Given the description of an element on the screen output the (x, y) to click on. 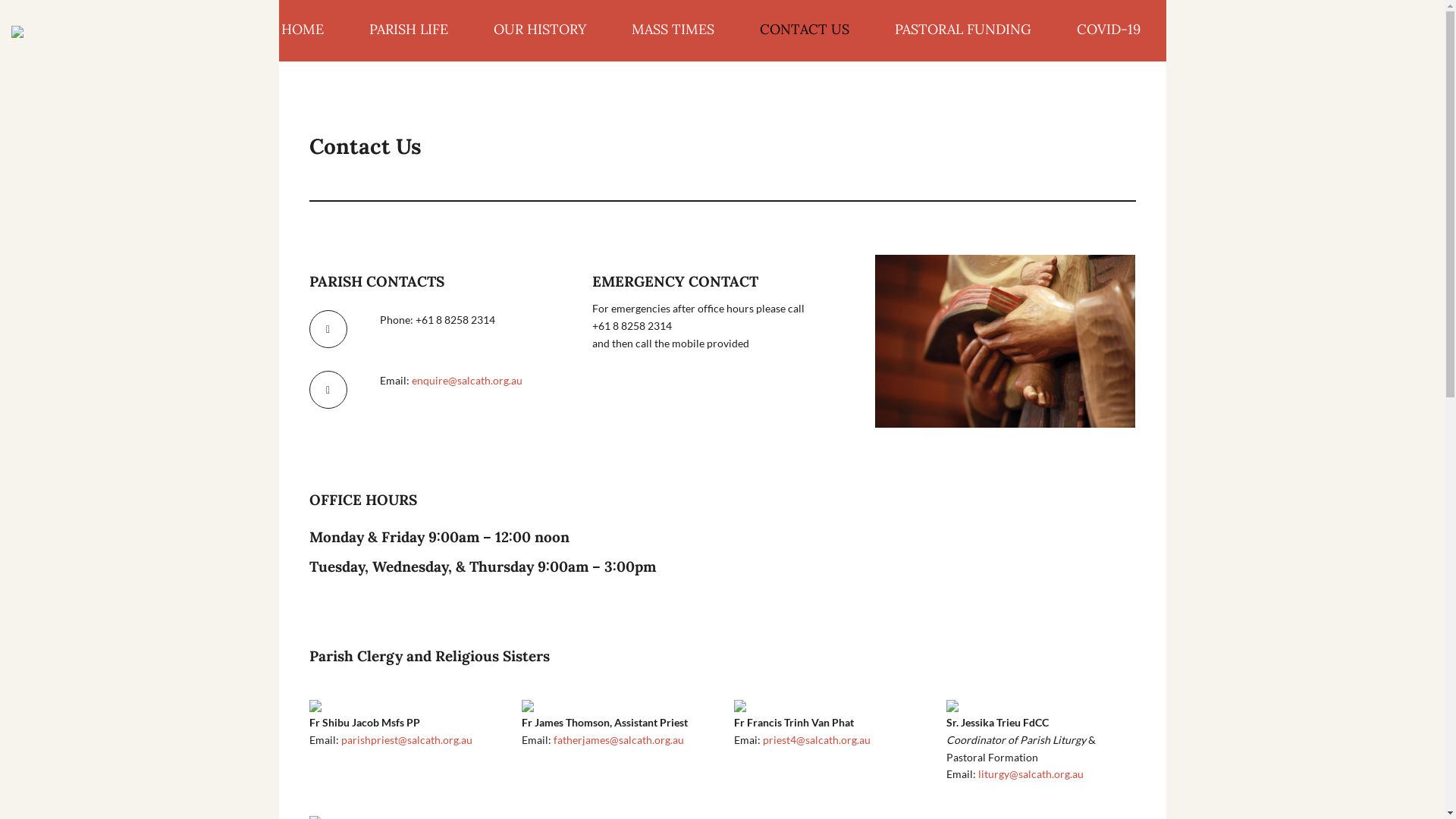
parishpriest@salcath.org.au Element type: text (406, 739)
top online casino Element type: hover (1005, 341)
fatherjames@salcath.org.au Element type: text (618, 739)
liturgy@salcath.org.au Element type: text (1030, 773)
priest4@salcath.org.au Element type: text (816, 739)
enquire@salcath.org.au Element type: text (466, 379)
